Given the description of an element on the screen output the (x, y) to click on. 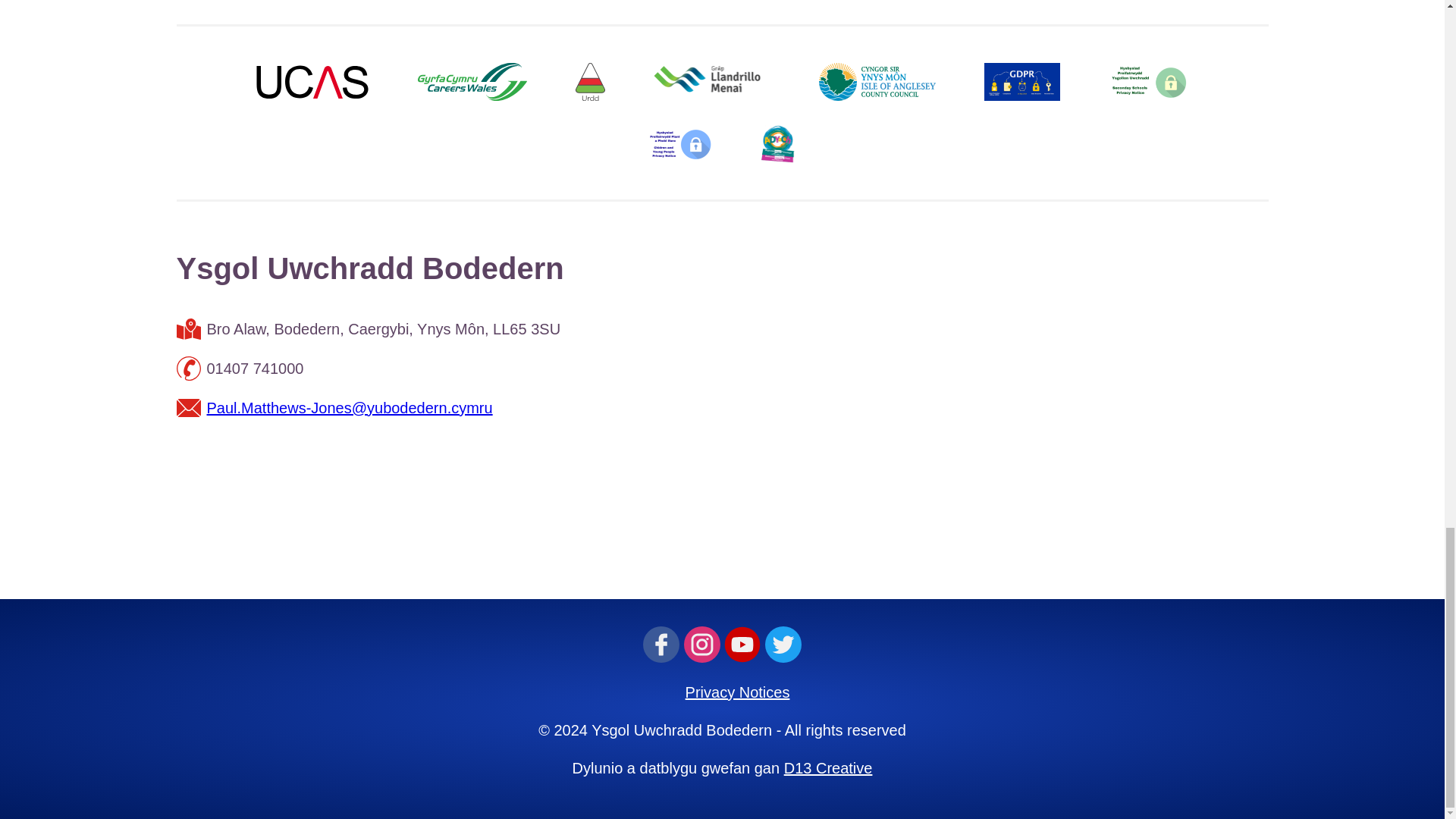
Instagram (702, 643)
Twitter (783, 643)
Youtube (741, 643)
Facebook (661, 643)
